Given the description of an element on the screen output the (x, y) to click on. 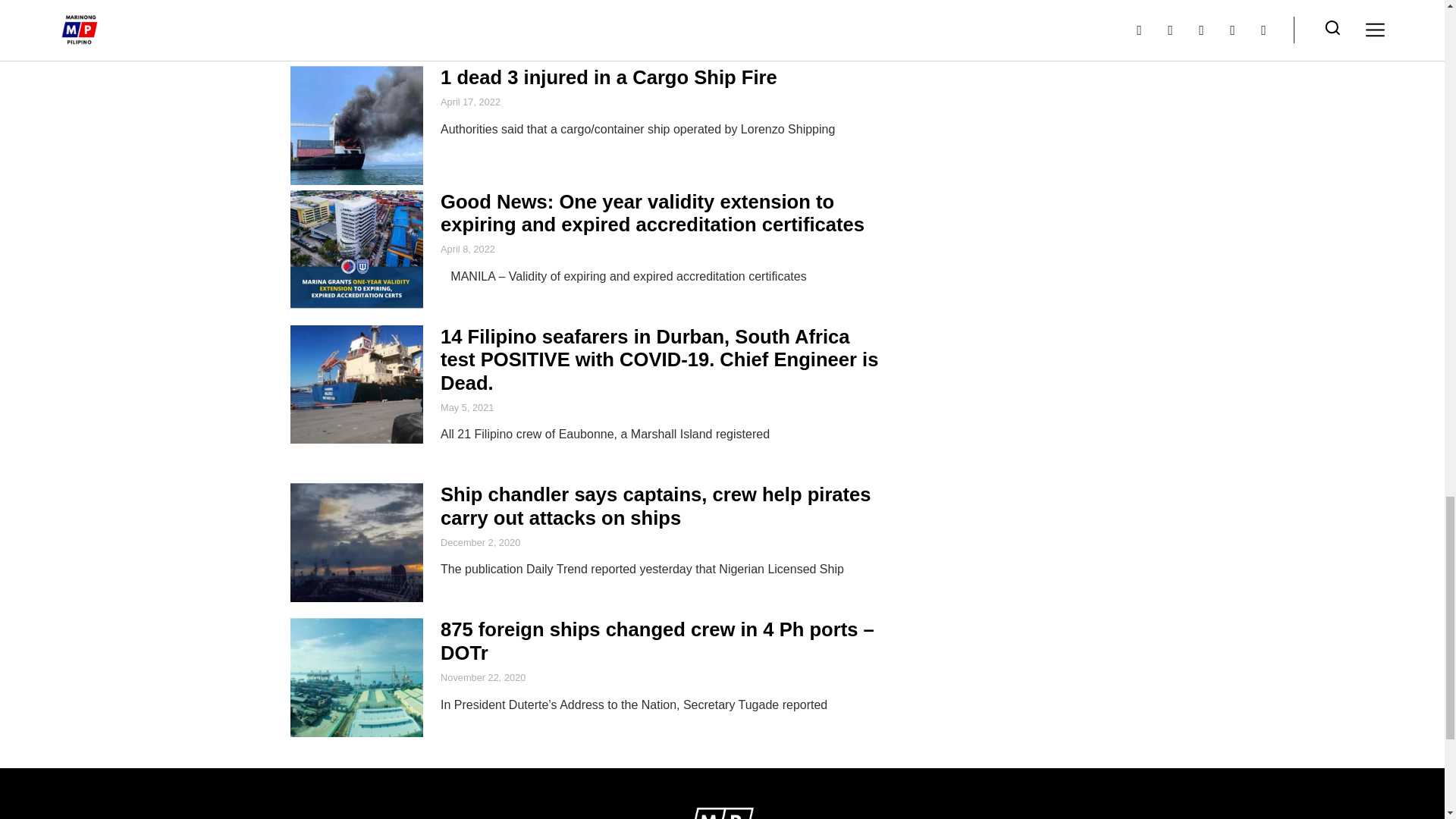
1 dead 3 injured in a Cargo Ship Fire (609, 76)
